Given the description of an element on the screen output the (x, y) to click on. 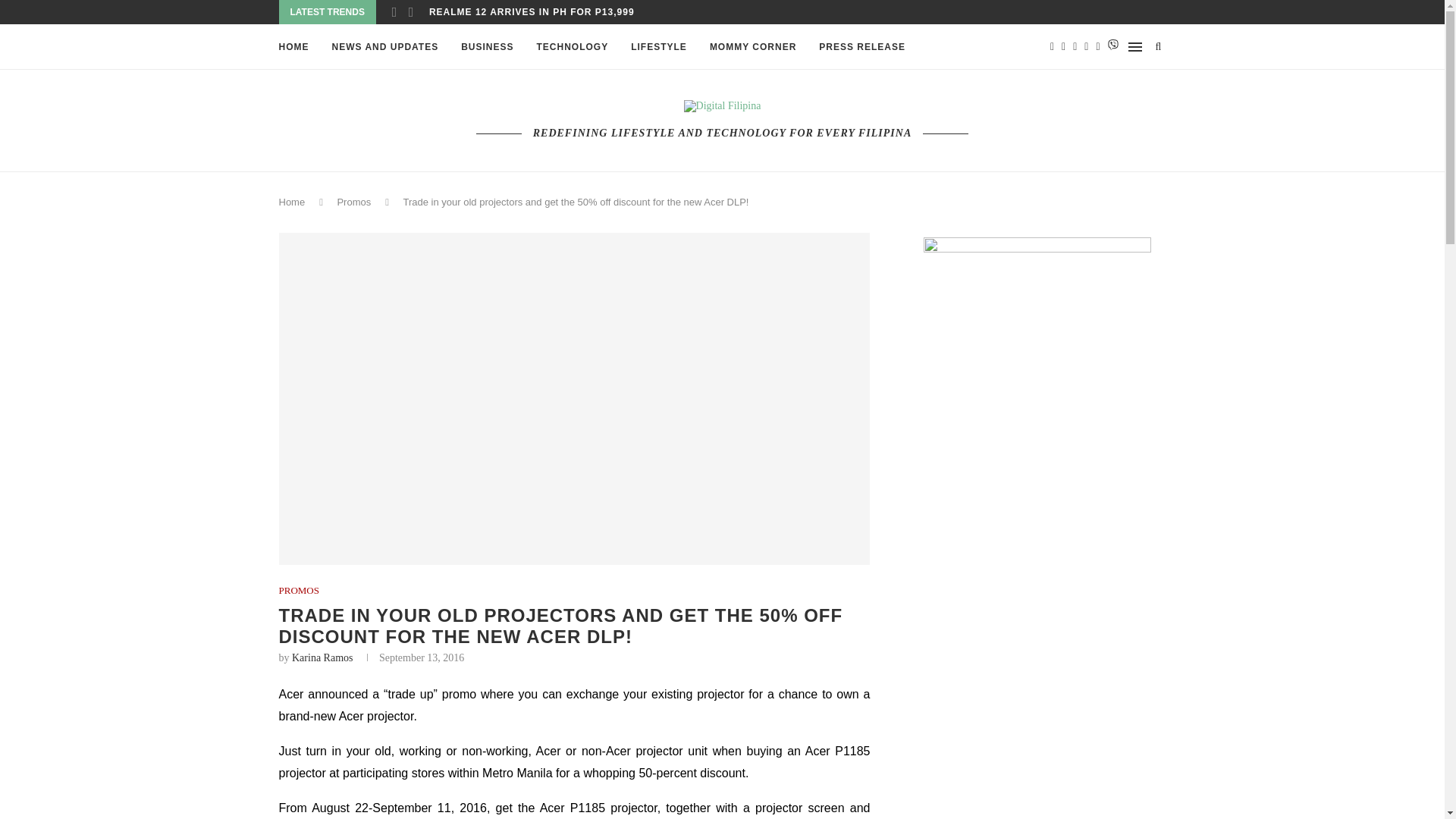
NEWS AND UPDATES (385, 46)
Advertisement (1037, 791)
TECHNOLOGY (572, 46)
LIFESTYLE (658, 46)
BUSINESS (487, 46)
REALME 12 ARRIVES IN PH FOR P13,999 (531, 12)
